Given the description of an element on the screen output the (x, y) to click on. 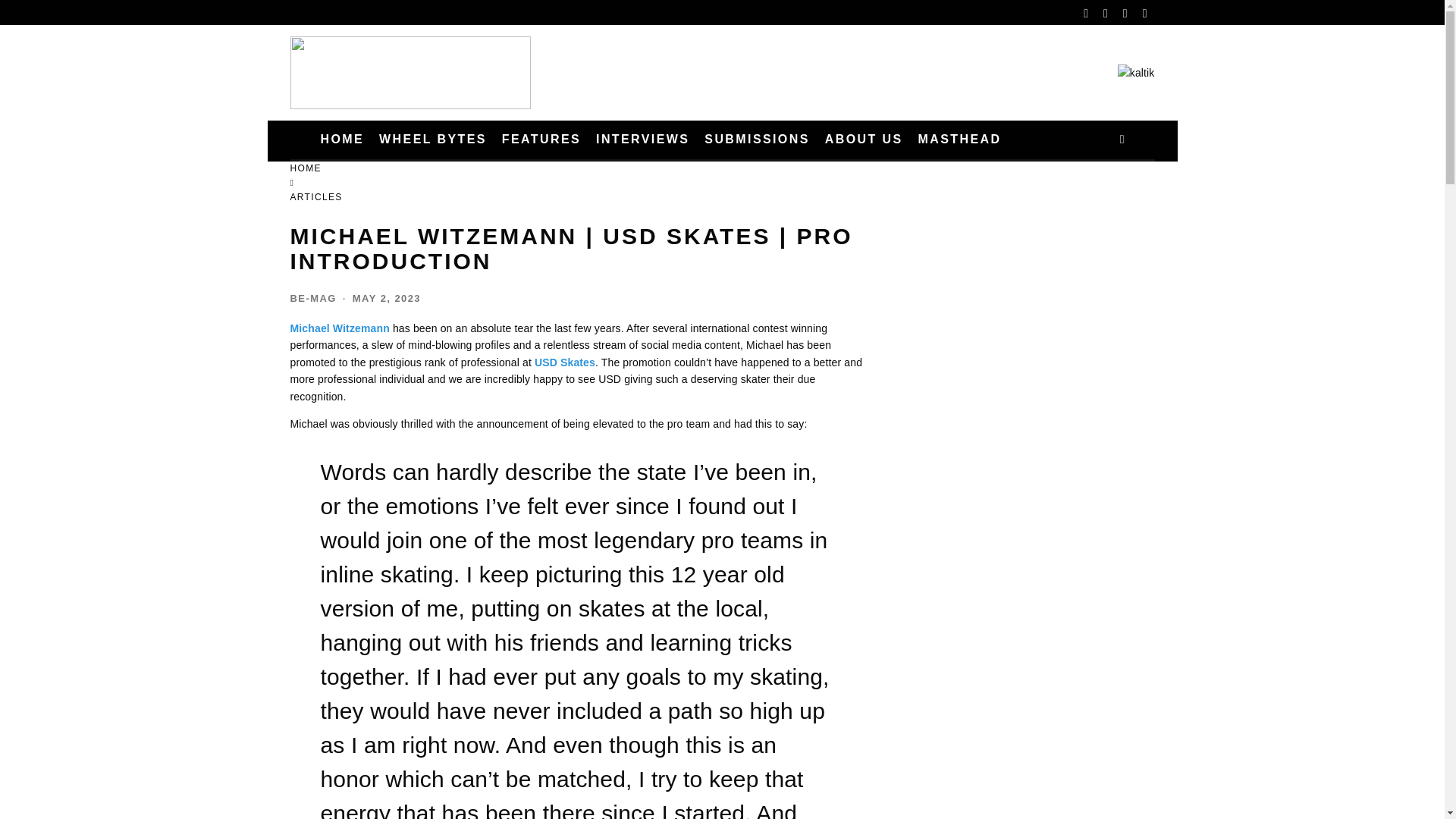
WHEEL BYTES (433, 139)
FEATURES (541, 139)
HOME (342, 139)
